Given the description of an element on the screen output the (x, y) to click on. 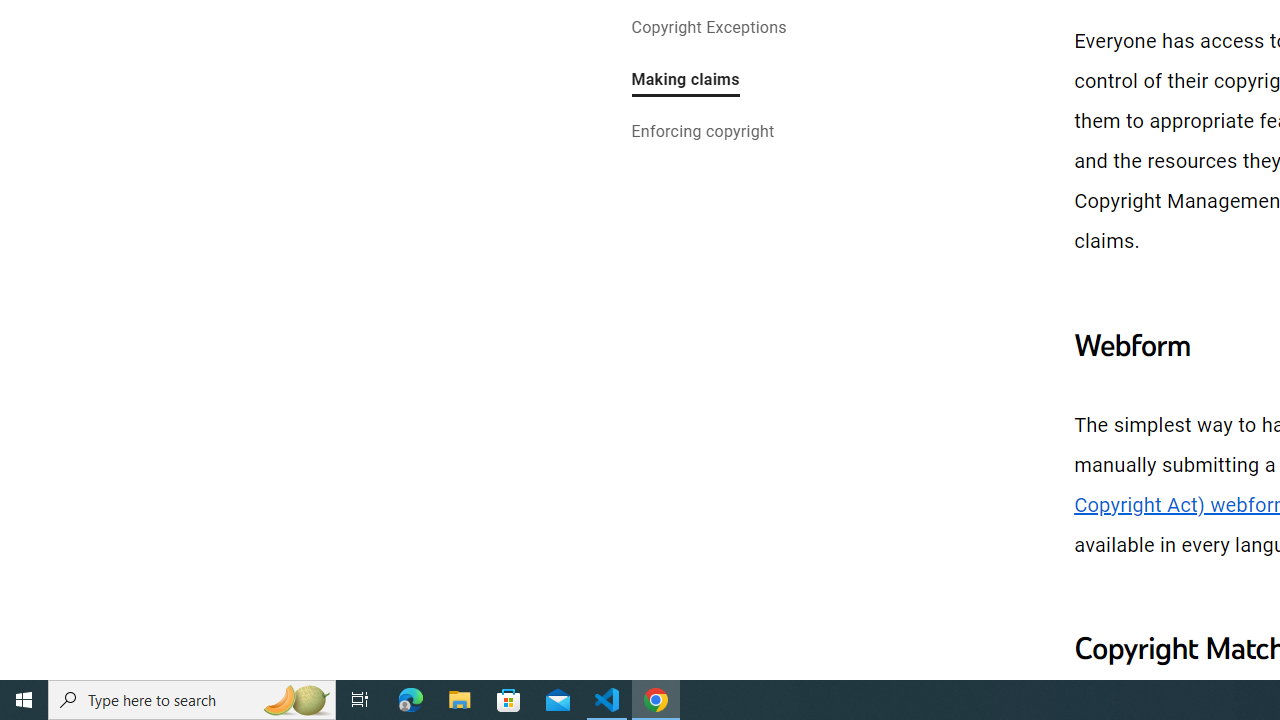
Copyright Exceptions (709, 28)
Enforcing copyright (702, 133)
Making claims (685, 81)
